Given the description of an element on the screen output the (x, y) to click on. 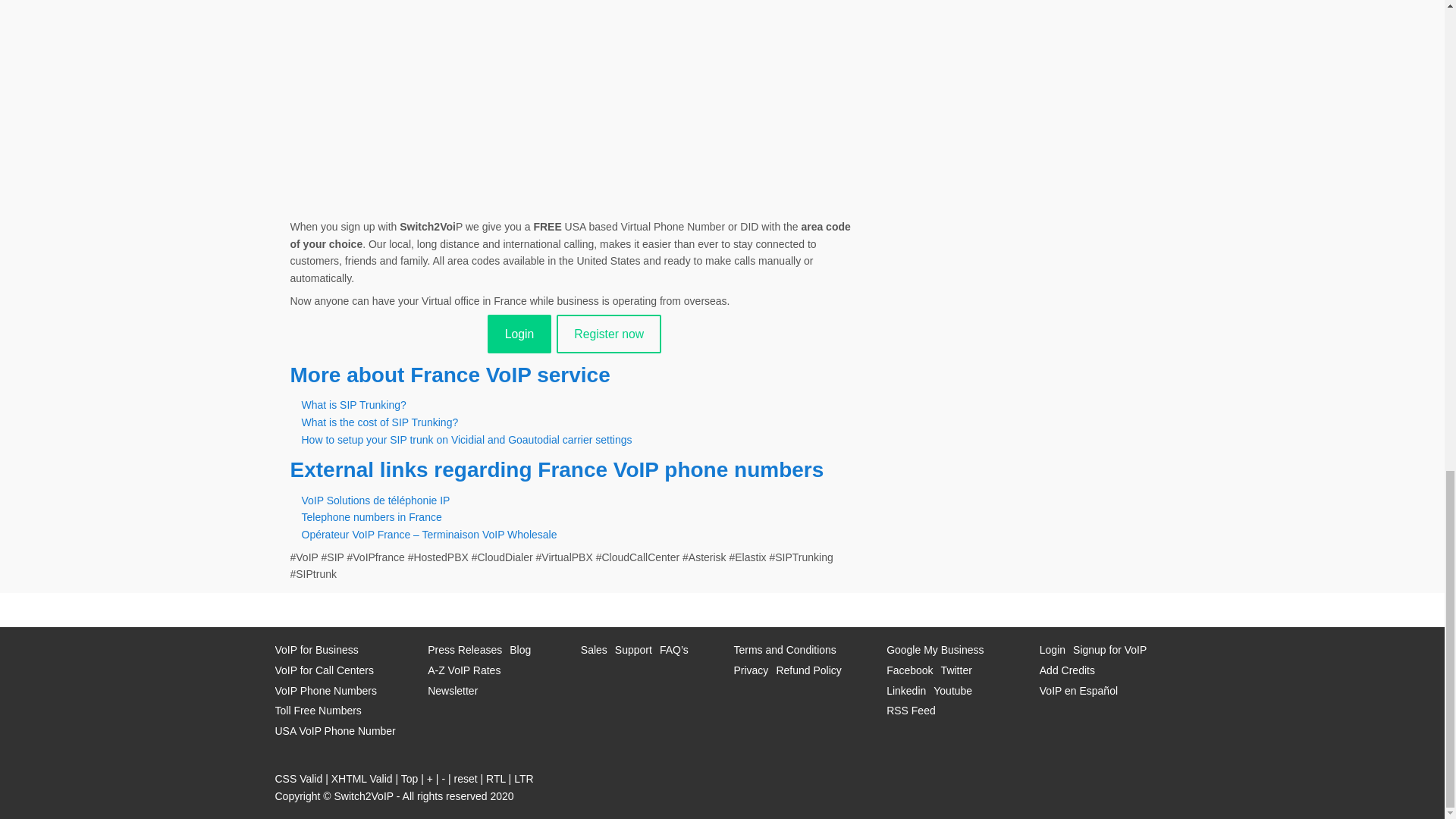
XHTML Validity (362, 778)
Top (410, 778)
CSS Validity (298, 778)
